Given the description of an element on the screen output the (x, y) to click on. 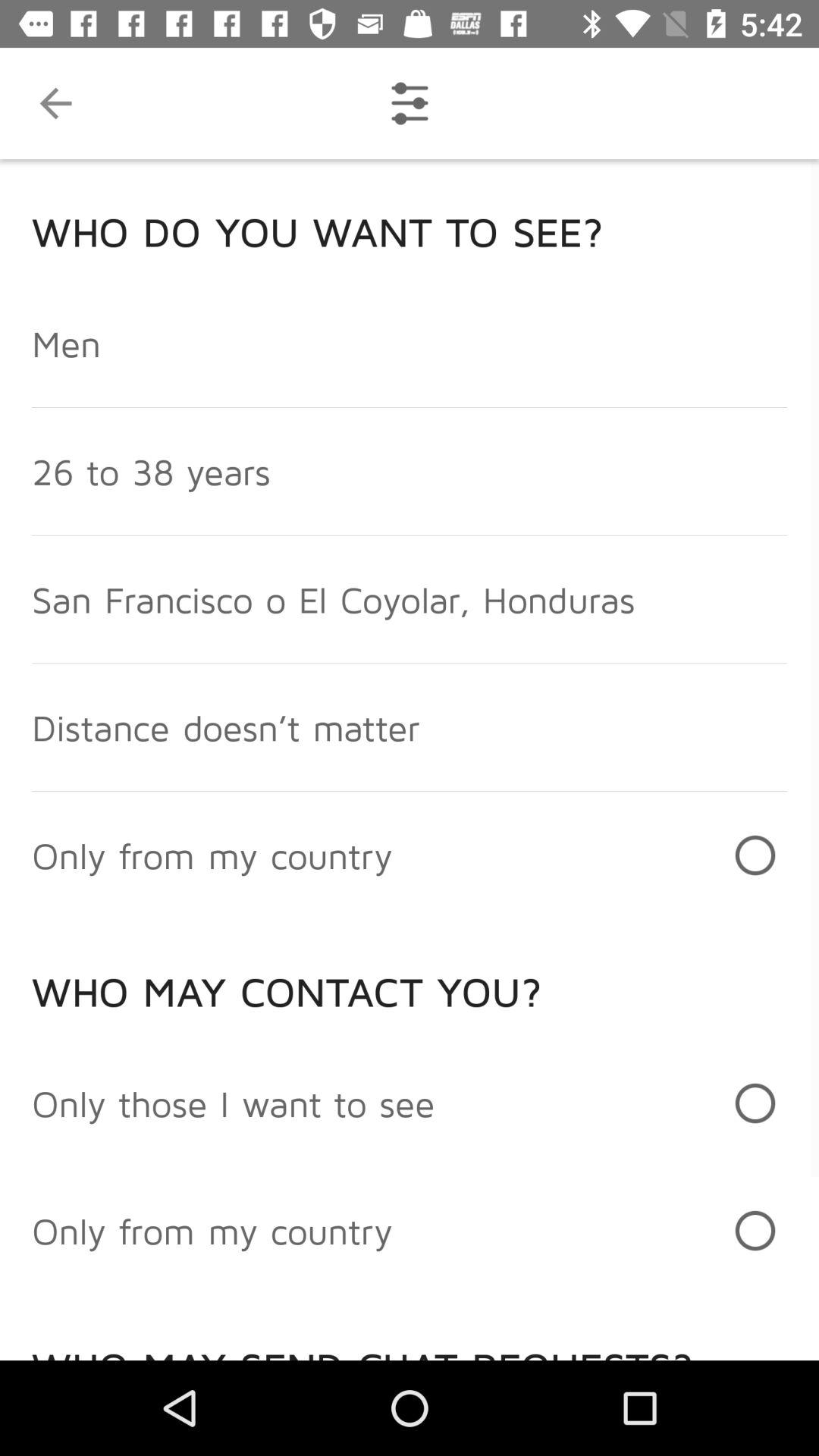
select san francisco o item (332, 599)
